Given the description of an element on the screen output the (x, y) to click on. 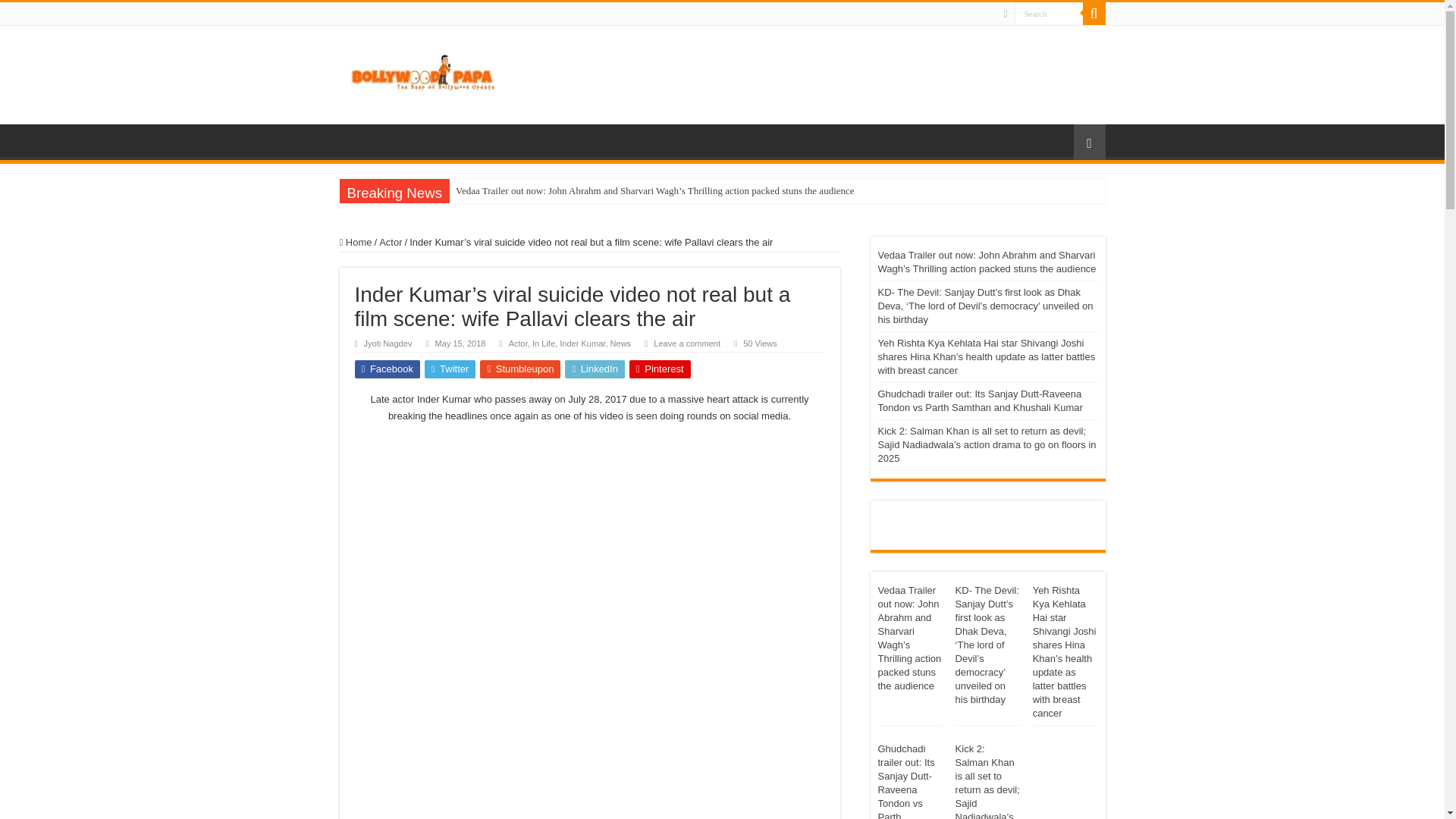
Search (1094, 13)
Random Article (1089, 141)
Search (1048, 13)
Bollywood Papa (422, 72)
LinkedIn (594, 369)
Pinterest (659, 369)
Home (355, 242)
Stumbleupon (520, 369)
In Life (543, 343)
Search (1048, 13)
Twitter (450, 369)
Search (1048, 13)
Jyoti Nagdev (388, 343)
Facebook (387, 369)
Leave a comment (686, 343)
